Given the description of an element on the screen output the (x, y) to click on. 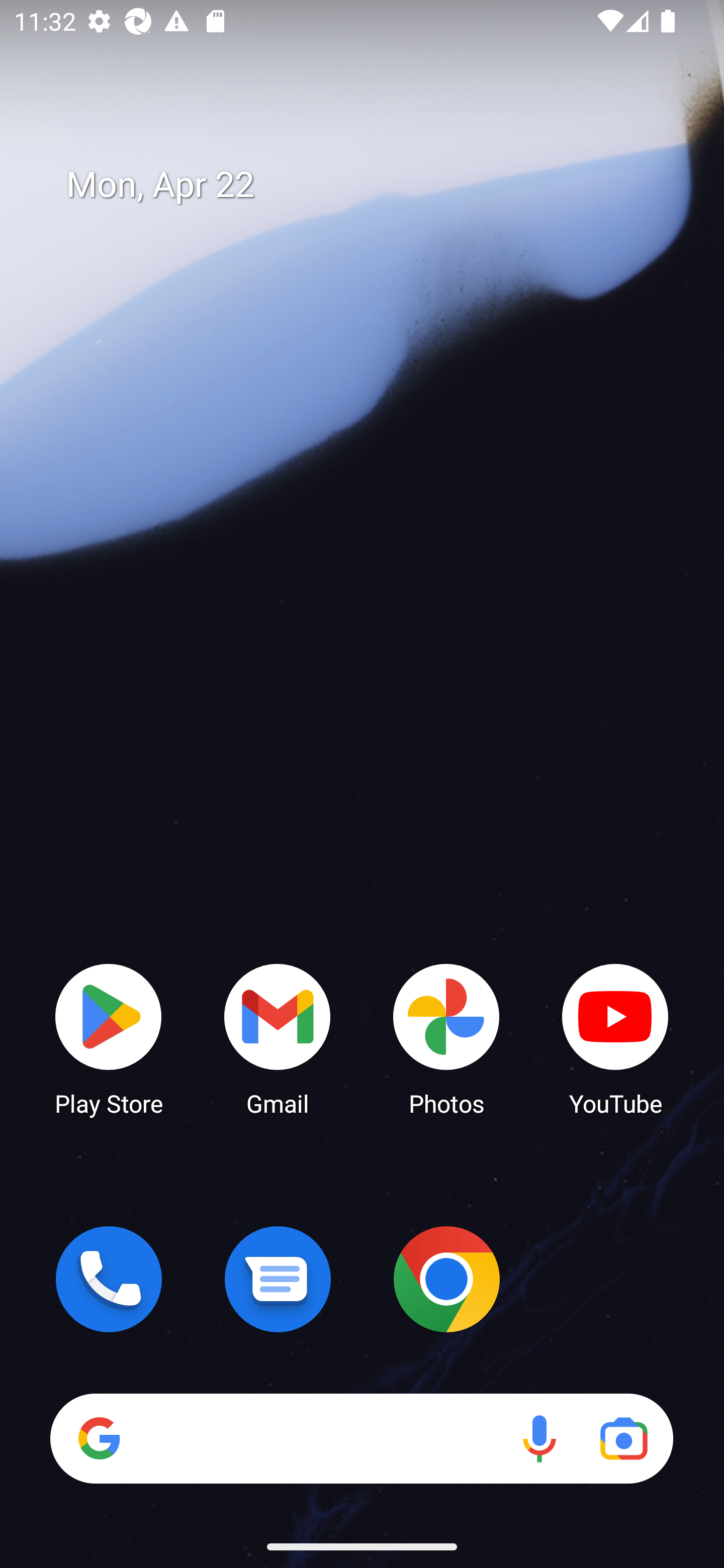
Mon, Apr 22 (375, 184)
Play Store (108, 1038)
Gmail (277, 1038)
Photos (445, 1038)
YouTube (615, 1038)
Phone (108, 1279)
Messages (277, 1279)
Chrome (446, 1279)
Search Voice search Google Lens (361, 1438)
Voice search (539, 1438)
Google Lens (623, 1438)
